Given the description of an element on the screen output the (x, y) to click on. 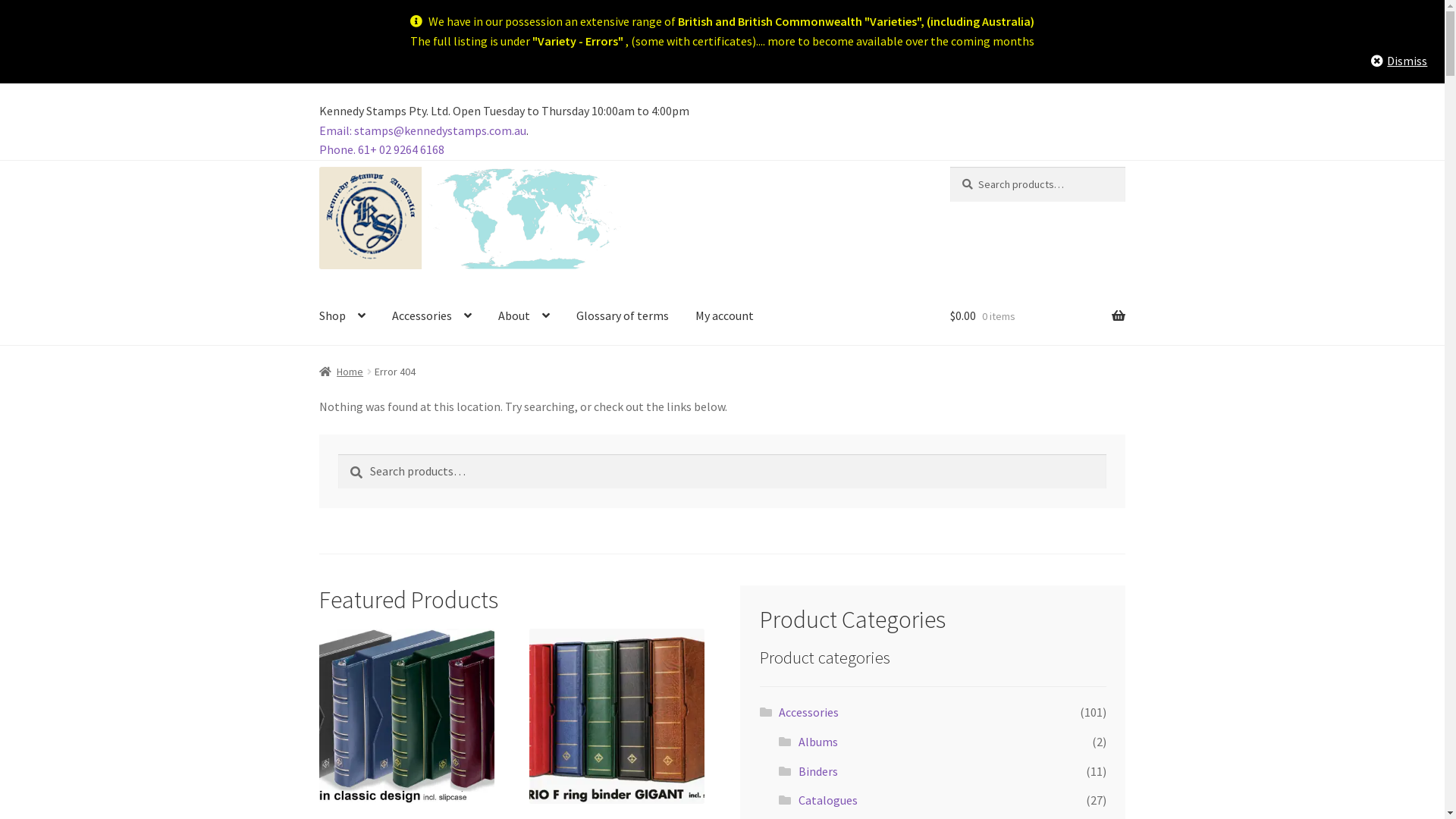
Phone. 61+ 02 9264 6168 Element type: text (381, 148)
About Element type: text (523, 315)
Search Element type: text (949, 166)
Dismiss Element type: text (1398, 61)
My account Element type: text (724, 315)
Search Element type: text (337, 453)
Shop Element type: text (342, 315)
Catalogues Element type: text (827, 799)
Glossary of terms Element type: text (622, 315)
Skip to navigation Element type: text (318, 166)
Home Element type: text (341, 371)
Binders Element type: text (817, 770)
Accessories Element type: text (808, 711)
Albums Element type: text (817, 741)
Email: stamps@kennedystamps.com.au Element type: text (422, 130)
Accessories Element type: text (431, 315)
$0.00 0 items Element type: text (1037, 315)
